Given the description of an element on the screen output the (x, y) to click on. 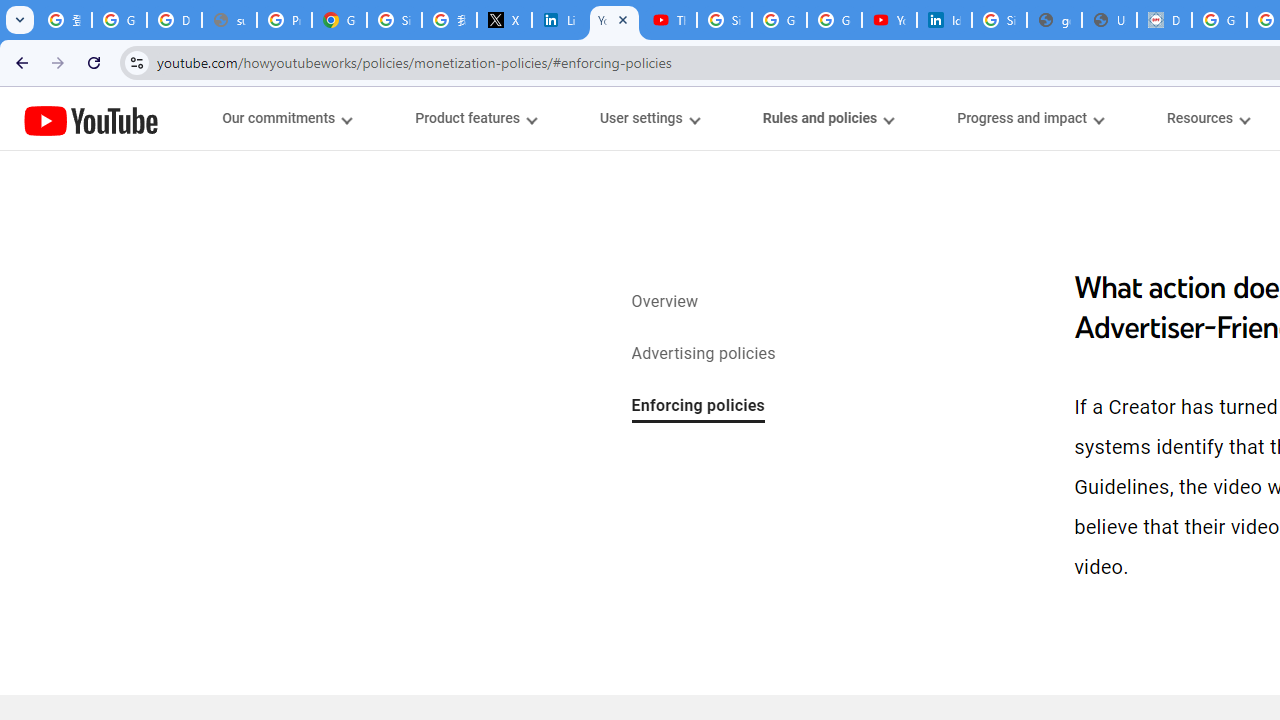
User Details (1108, 20)
Resources menupopup (1208, 118)
Data Privacy Framework (1163, 20)
YouTube Content Monetization Policies - How YouTube Works (614, 20)
Enforcing policies (698, 407)
Advertising policies (703, 354)
Our commitments menupopup (286, 118)
Sign in - Google Accounts (394, 20)
